Given the description of an element on the screen output the (x, y) to click on. 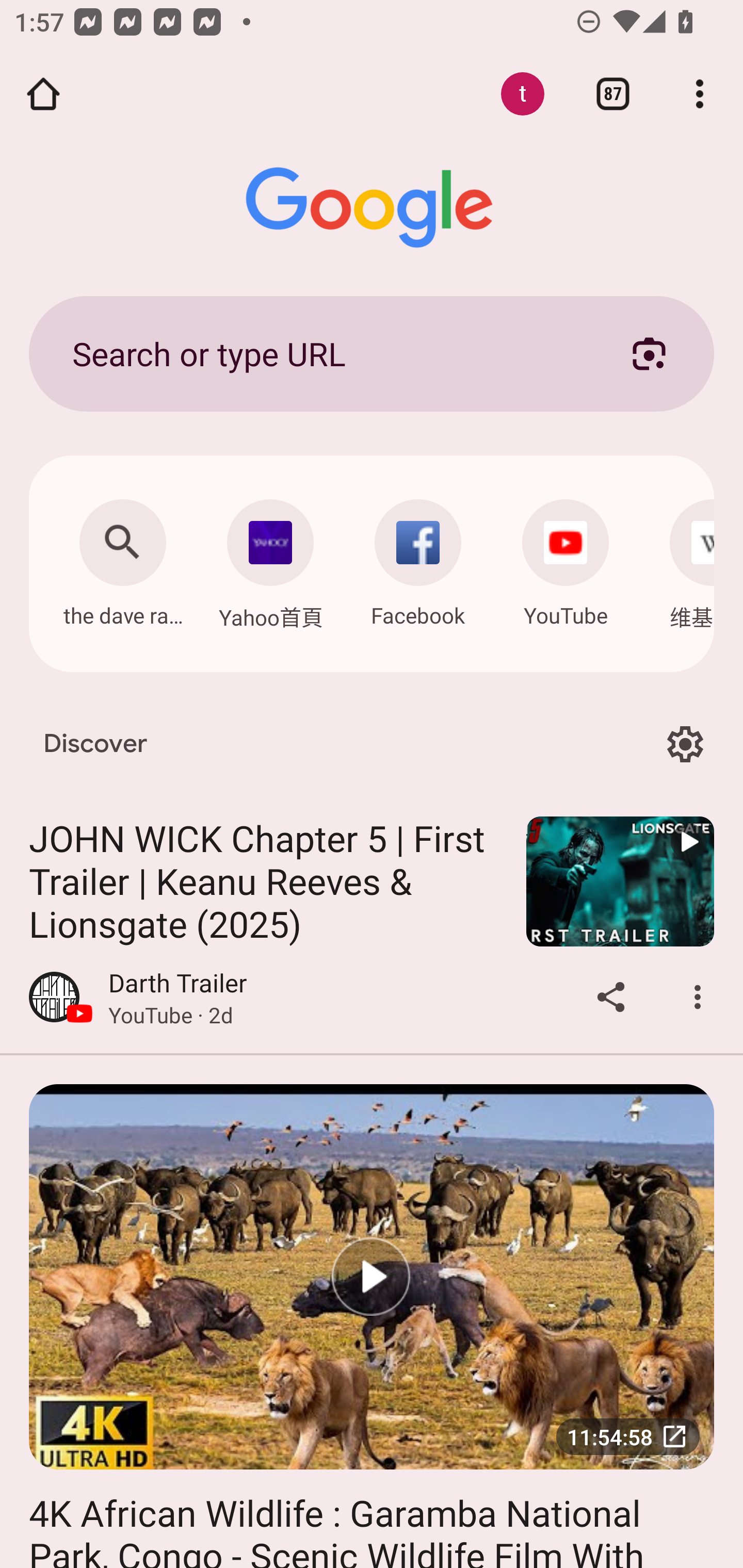
Open the home page (43, 93)
Switch or close tabs (612, 93)
Customize and control Google Chrome (699, 93)
Search or type URL (327, 353)
Search with your camera using Google Lens (648, 353)
Search: the dave ramsey show the dave ramsey show (122, 558)
Navigate: Yahoo首頁: hk.mobi.yahoo.com Yahoo首頁 (270, 558)
Navigate: Facebook: m.facebook.com Facebook (417, 558)
Navigate: YouTube: m.youtube.com YouTube (565, 558)
Options for Discover (684, 743)
